Given the description of an element on the screen output the (x, y) to click on. 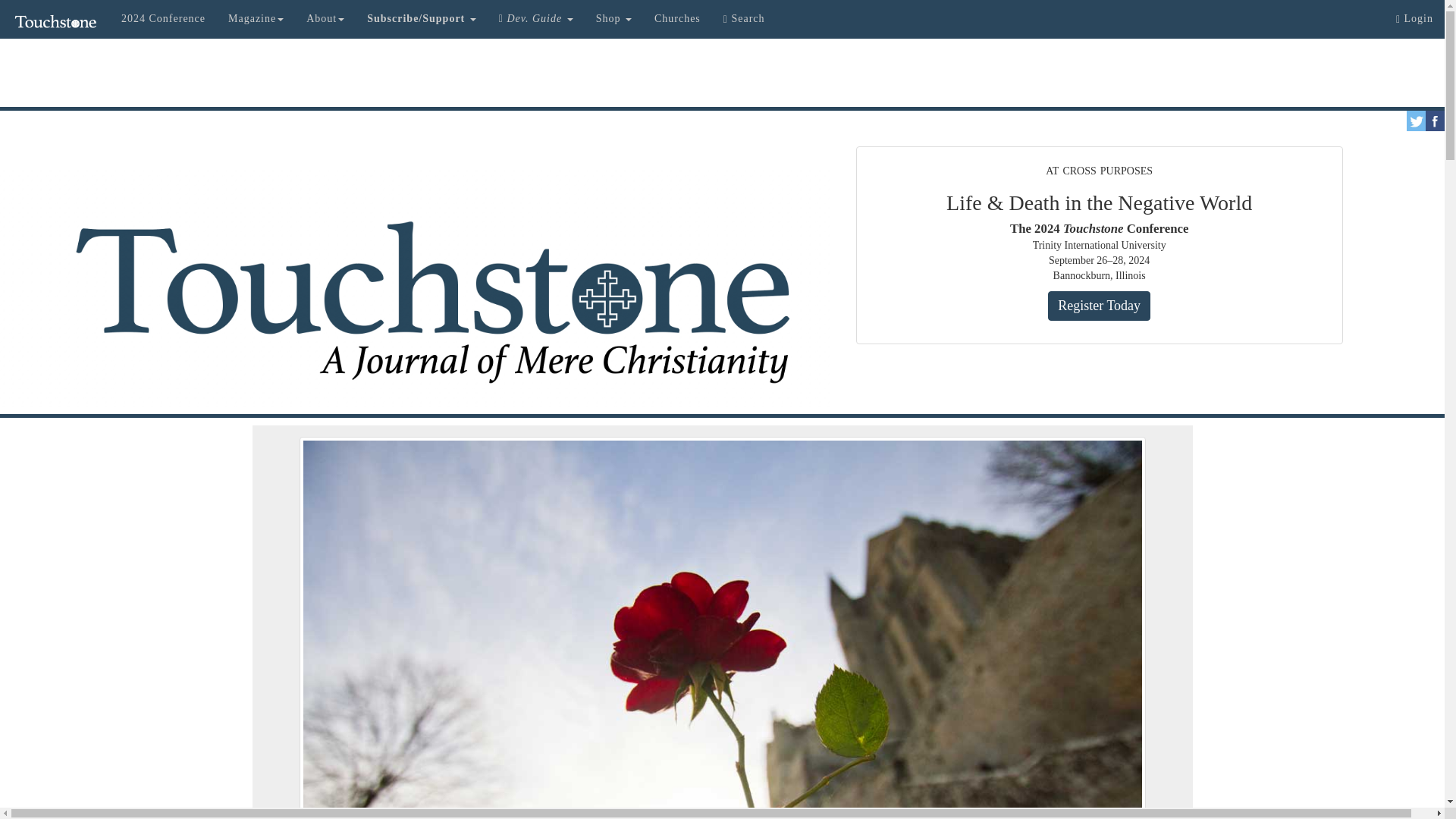
Dev. Guide (536, 18)
Magazine (255, 18)
3rd party ad content (721, 72)
Login (1414, 18)
2024 Conference (163, 18)
Shop (614, 18)
About (325, 18)
Search (743, 18)
Register Today (1099, 306)
Churches (677, 18)
